Given the description of an element on the screen output the (x, y) to click on. 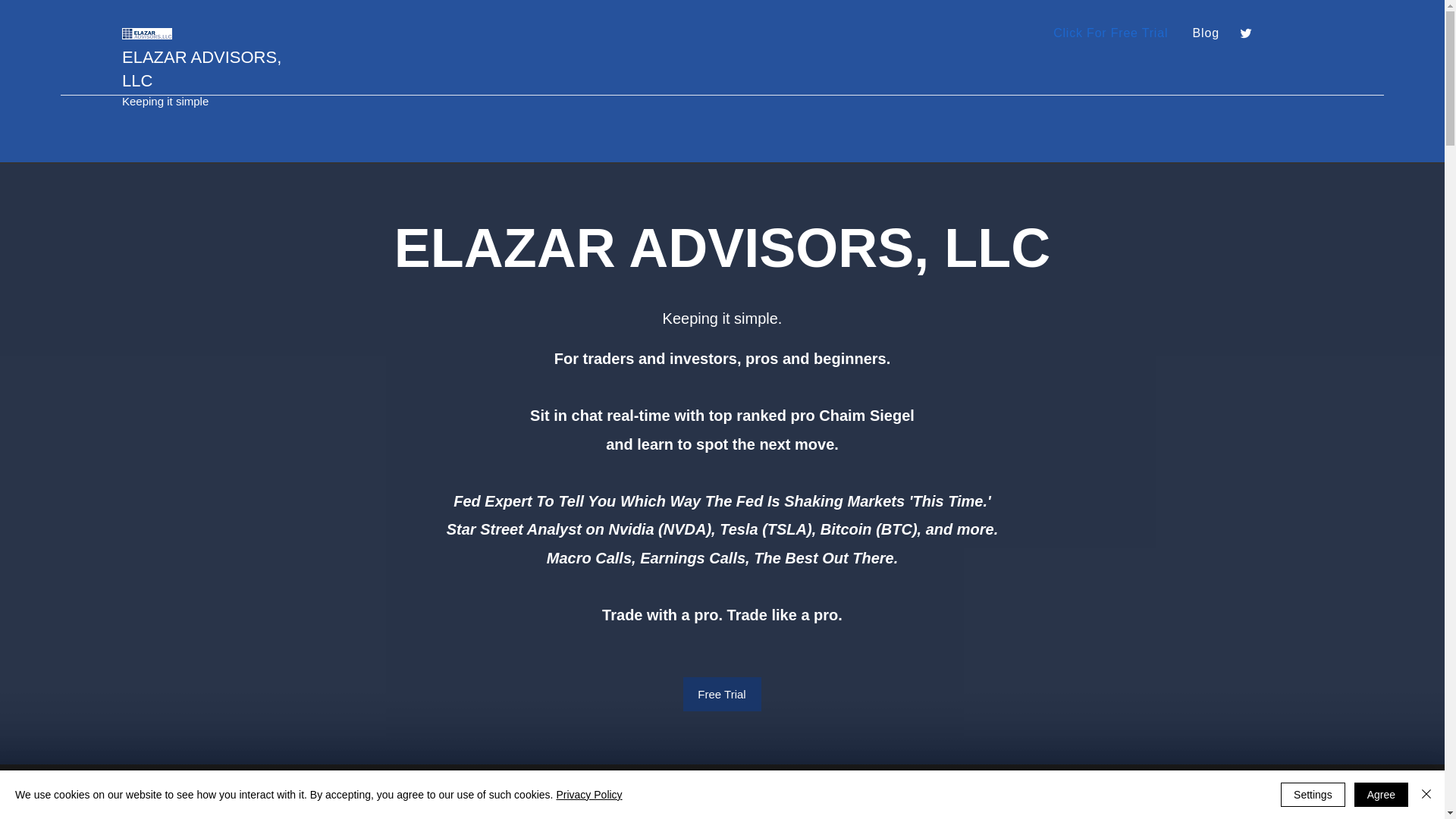
ELAZAR ADVISORS, LLC (201, 68)
Agree (1380, 794)
Settings (1313, 794)
Click For Free Trial (1109, 32)
Privacy Policy (588, 794)
Blog (1205, 32)
Free Trial (721, 694)
